Given the description of an element on the screen output the (x, y) to click on. 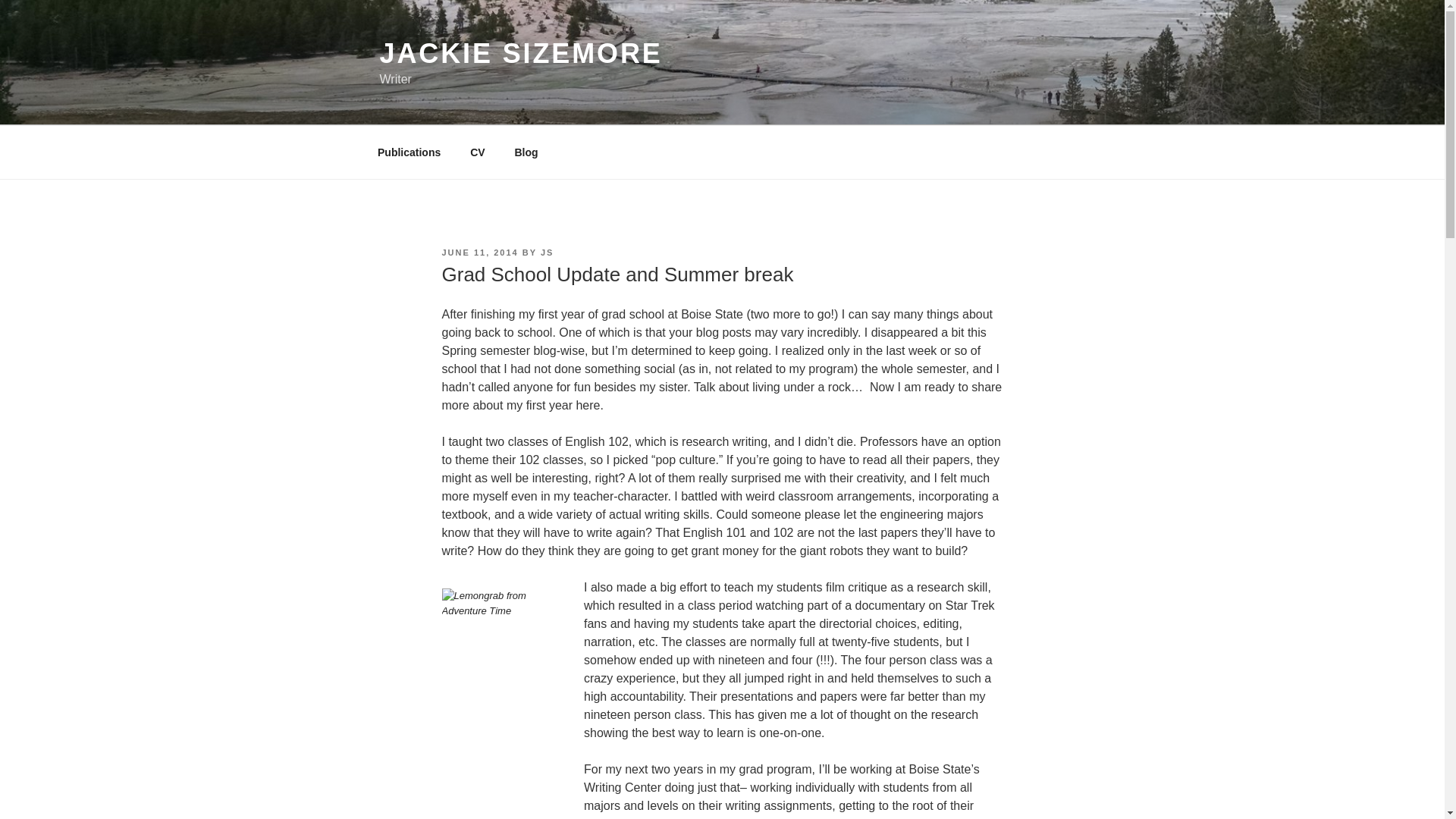
JS (546, 252)
JACKIE SIZEMORE (520, 52)
Publications (408, 151)
CV (477, 151)
JUNE 11, 2014 (479, 252)
Blog (525, 151)
